Given the description of an element on the screen output the (x, y) to click on. 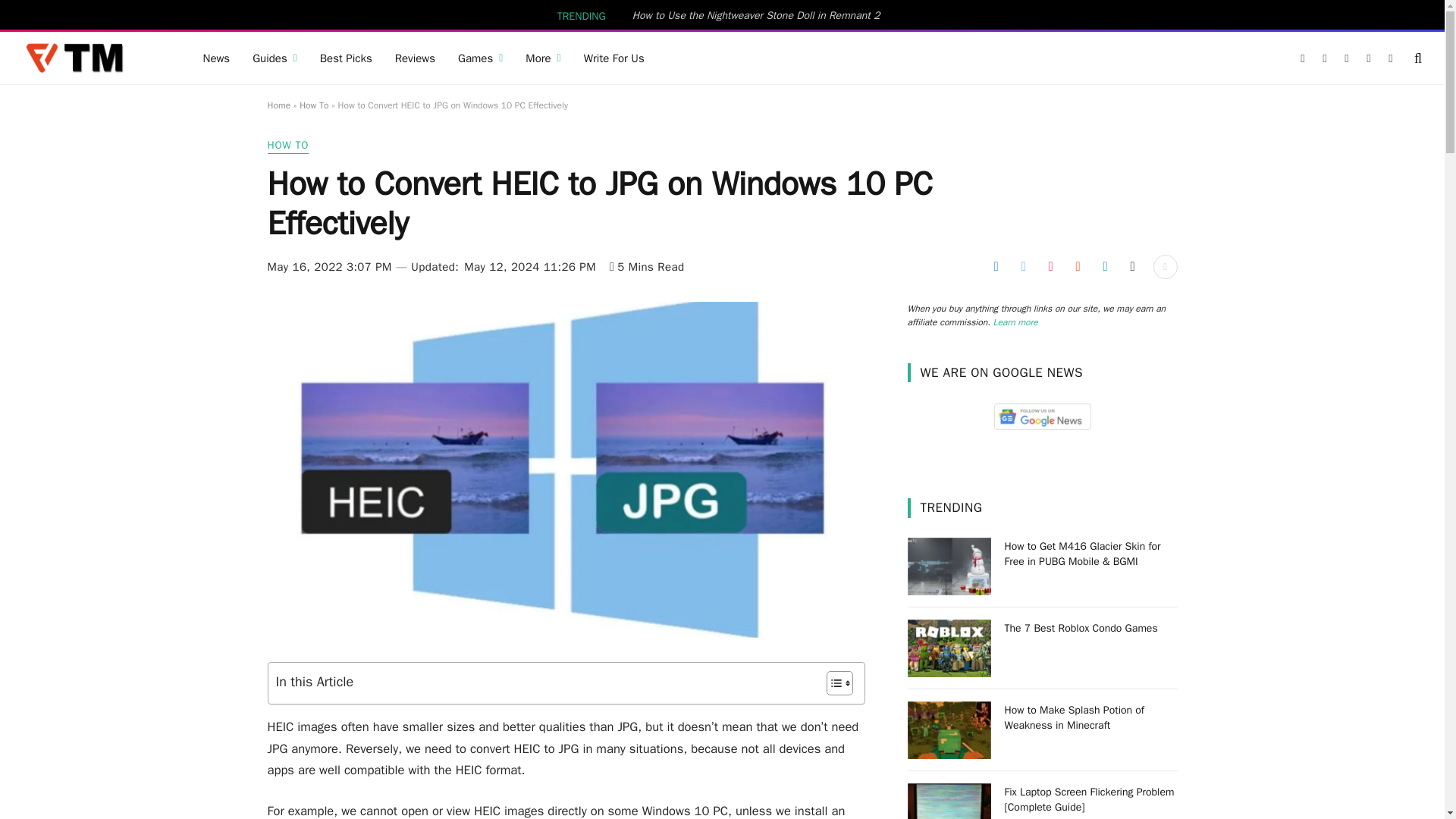
Share on Pinterest (1050, 266)
Games (479, 57)
Guides (274, 57)
Copy Link (1131, 266)
Best Picks (346, 57)
More (542, 57)
Share on Telegram (1104, 266)
Share on Facebook (995, 266)
Write For Us (614, 57)
News (215, 57)
How to Use the Nightweaver Stone Doll in Remnant 2 (759, 15)
Share on Reddit (1077, 266)
Reviews (415, 57)
